Given the description of an element on the screen output the (x, y) to click on. 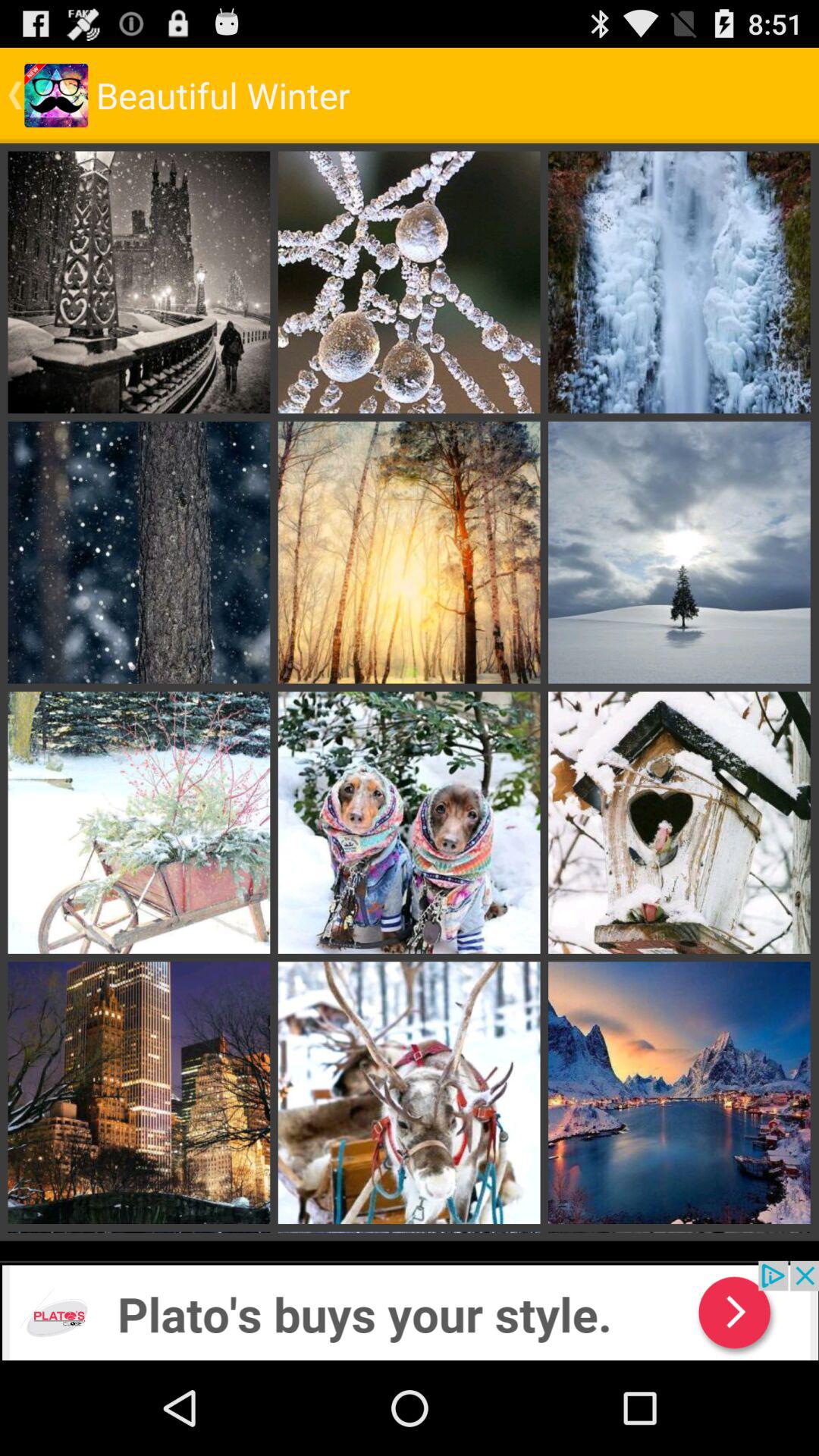
go to advertisement website (409, 1310)
